Given the description of an element on the screen output the (x, y) to click on. 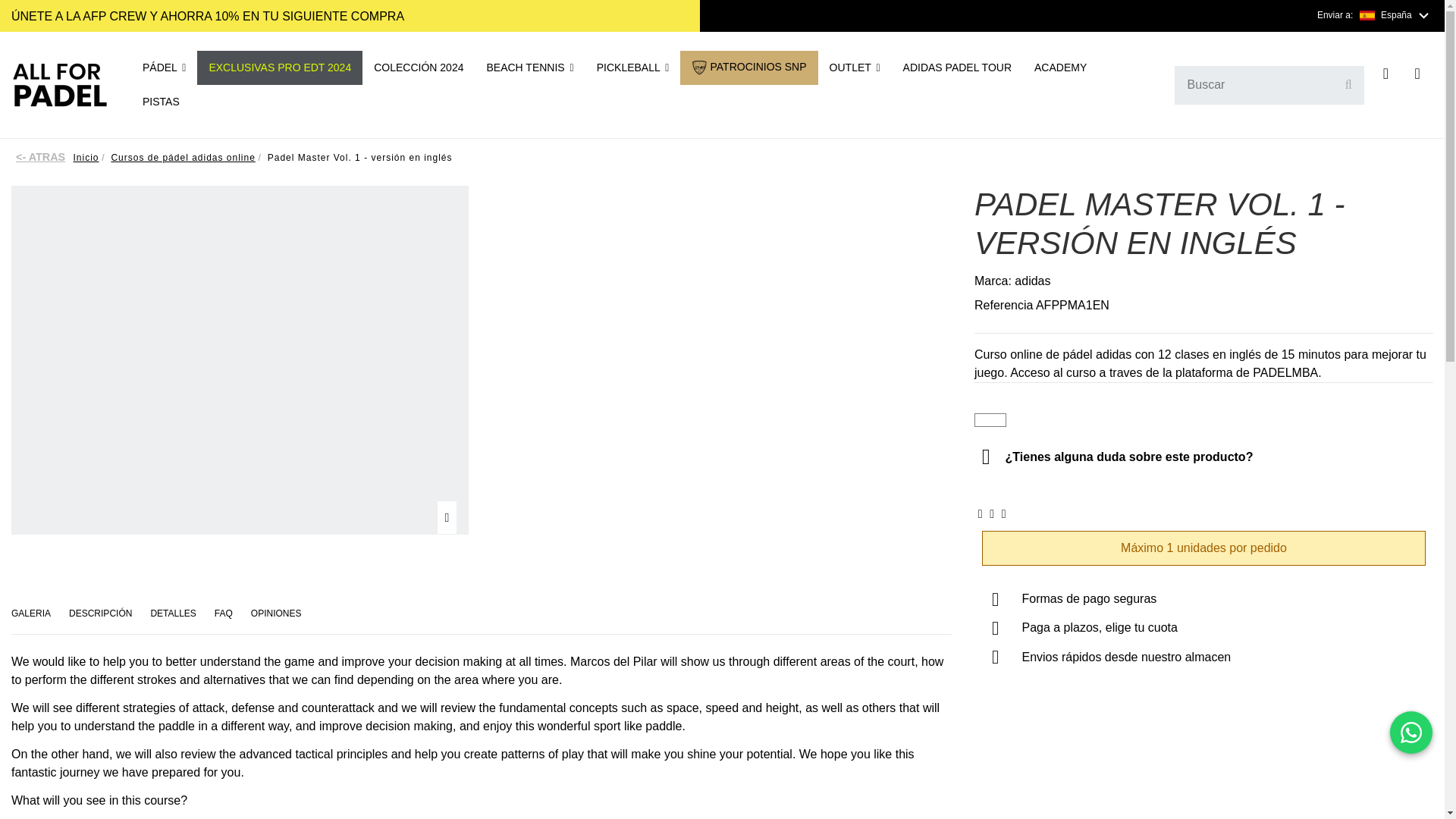
EXCLUSIVAS PRO EDT 2024 (279, 67)
BEACH TENNIS (529, 67)
Acceda a tu cuenta de cliente (1385, 75)
